Given the description of an element on the screen output the (x, y) to click on. 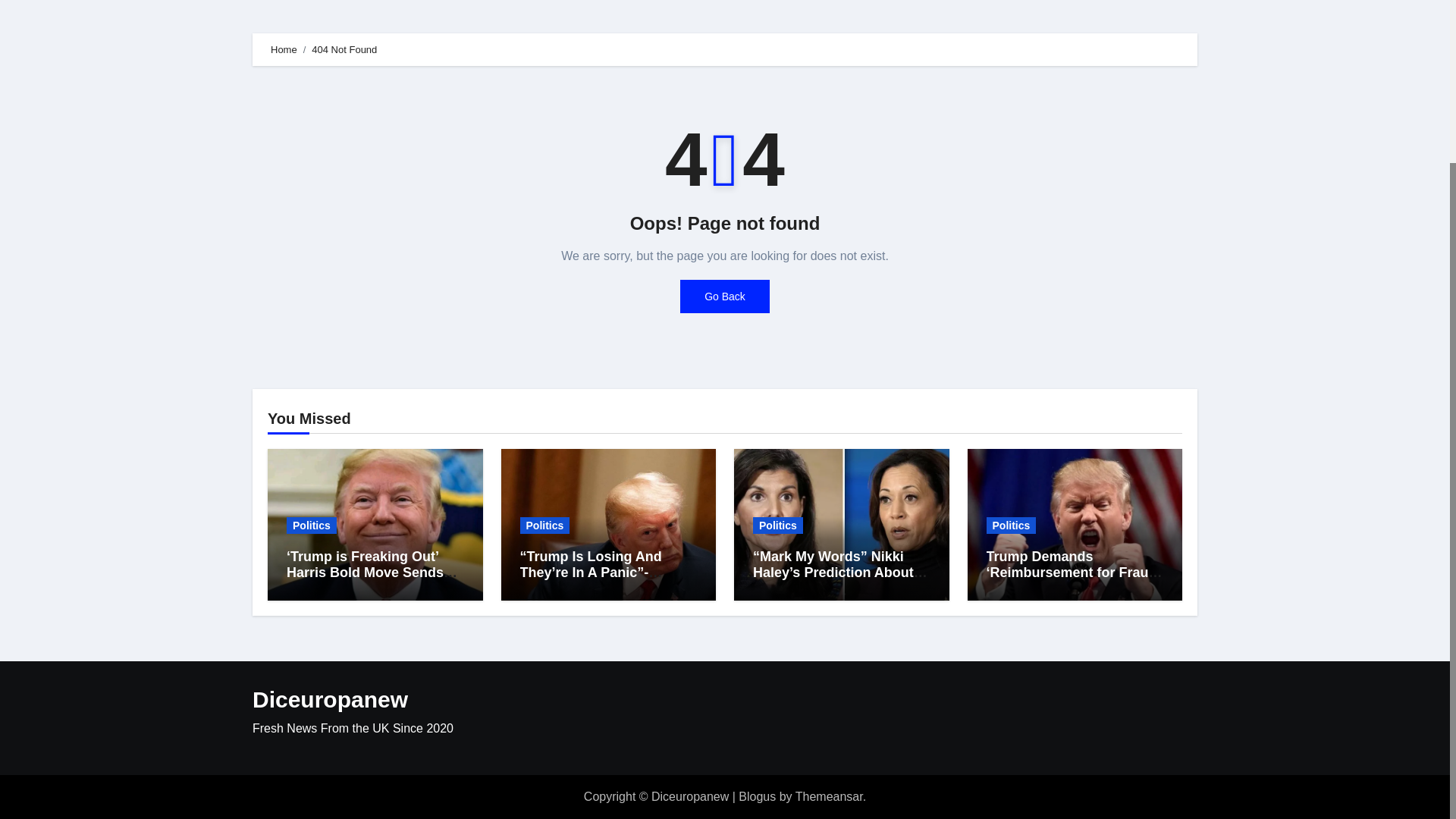
Go Back (724, 296)
Politics (544, 524)
Politics (311, 524)
Home (283, 49)
Themeansar (828, 796)
Blogus (757, 796)
Politics (1010, 524)
Politics (777, 524)
Diceuropanew (329, 699)
